Given the description of an element on the screen output the (x, y) to click on. 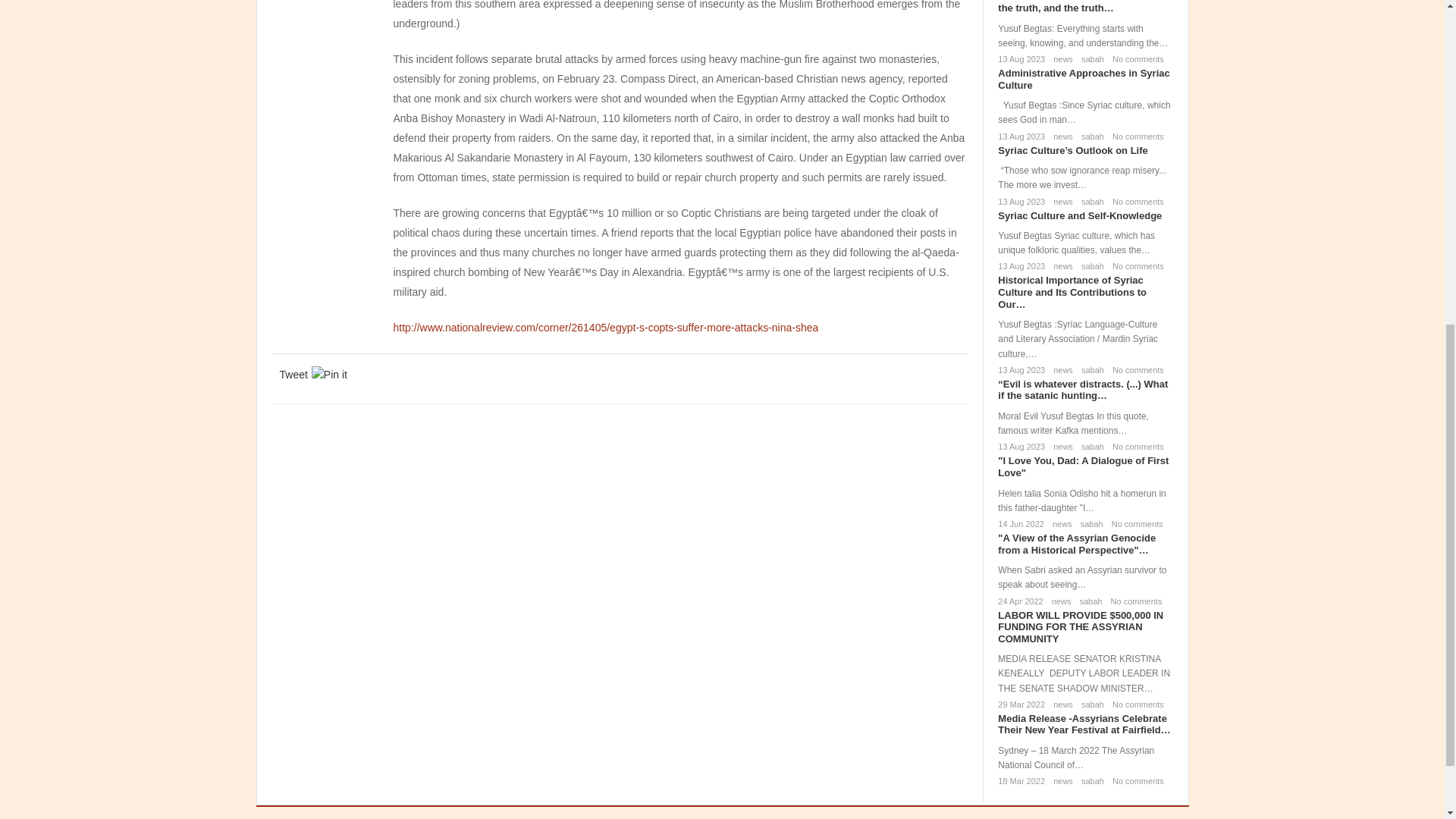
Pin it (329, 374)
Administrative Approaches in Syriac Culture (1083, 78)
Tweet (293, 374)
I Love You, Dad: A Dialogue of First Love (1083, 466)
